Given the description of an element on the screen output the (x, y) to click on. 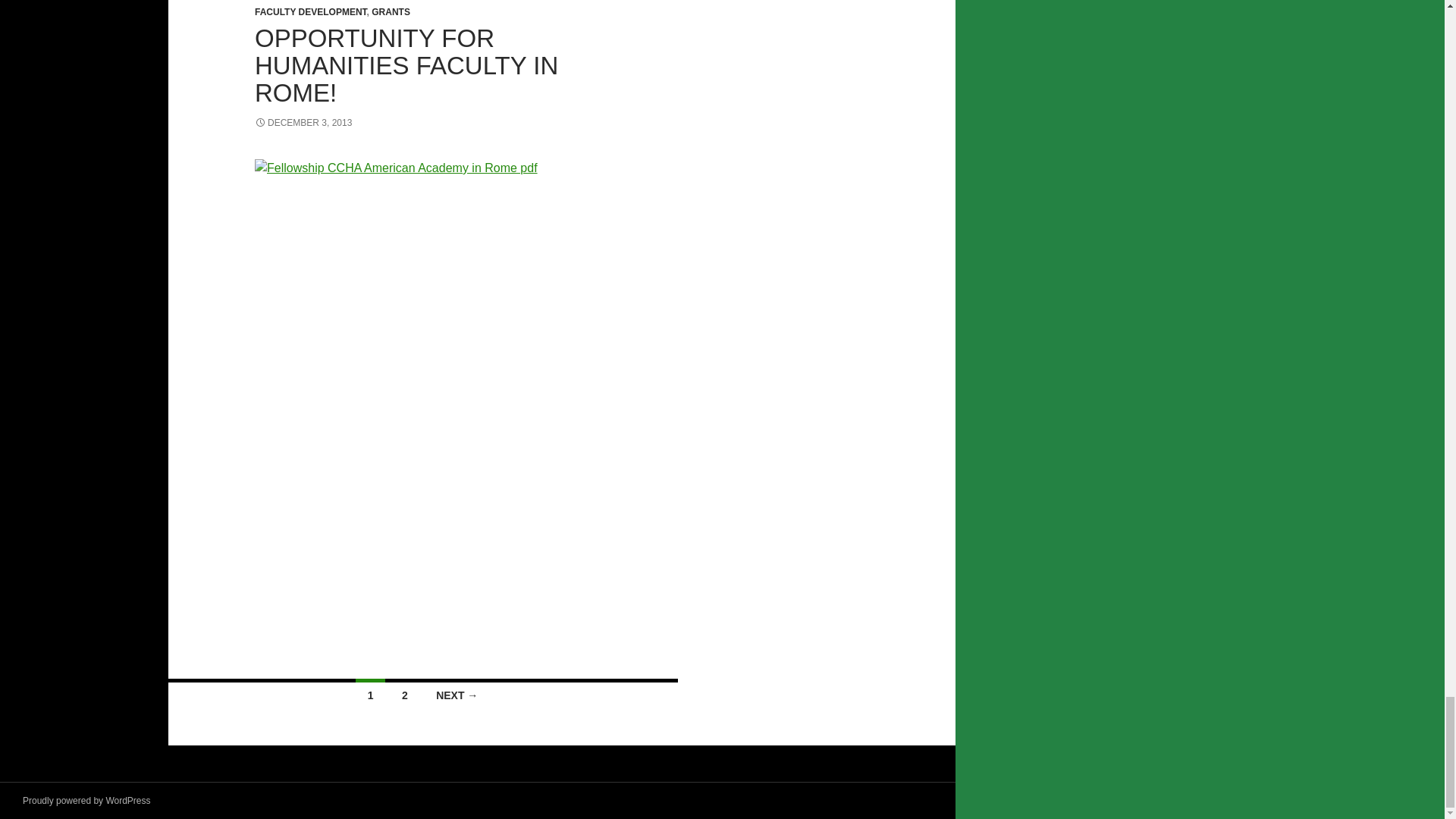
DECEMBER 3, 2013 (303, 122)
FACULTY DEVELOPMENT (310, 11)
OPPORTUNITY FOR HUMANITIES FACULTY IN ROME! (405, 65)
GRANTS (390, 11)
